Given the description of an element on the screen output the (x, y) to click on. 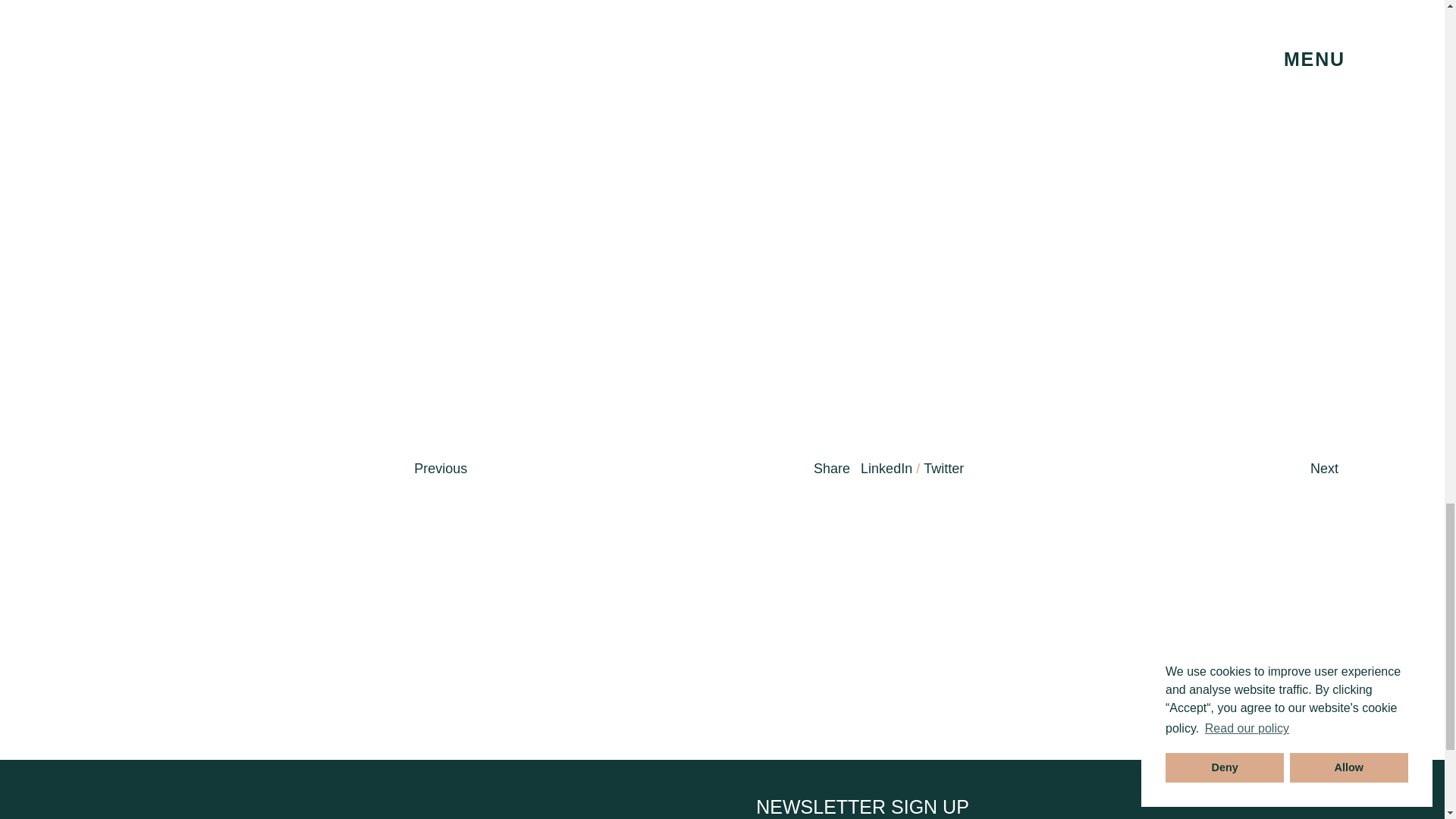
LinkedIn (886, 468)
Next (1324, 468)
Twitter (943, 468)
Previous (440, 468)
